Given the description of an element on the screen output the (x, y) to click on. 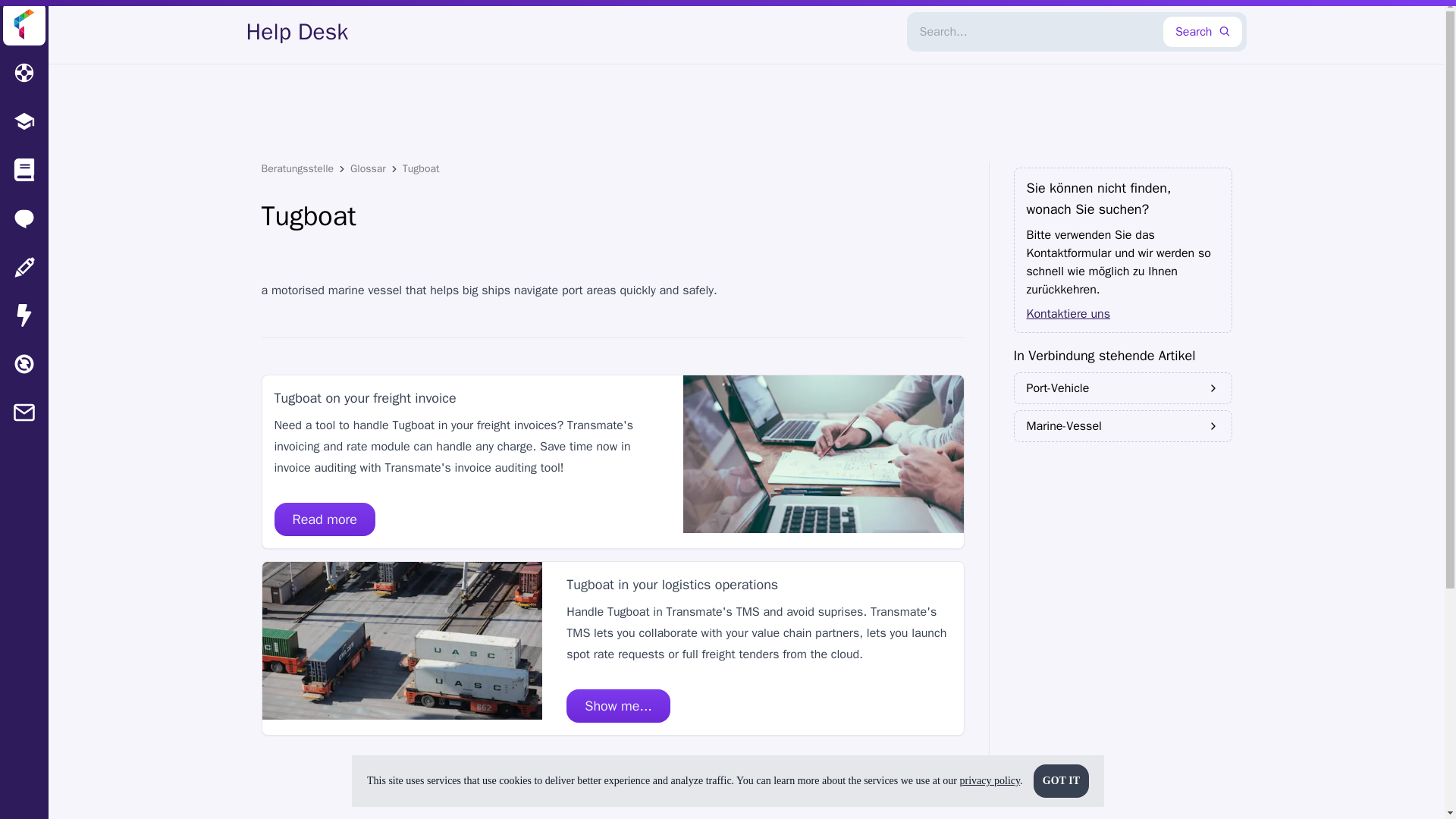
Port-Vehicle (1122, 388)
Read more (325, 519)
Beratungsstelle (296, 168)
Marine-Vessel (1122, 426)
Help Desk (296, 31)
Show me... (617, 705)
Glossar (367, 168)
Kontaktiere uns (1123, 313)
Search (1203, 31)
